Given the description of an element on the screen output the (x, y) to click on. 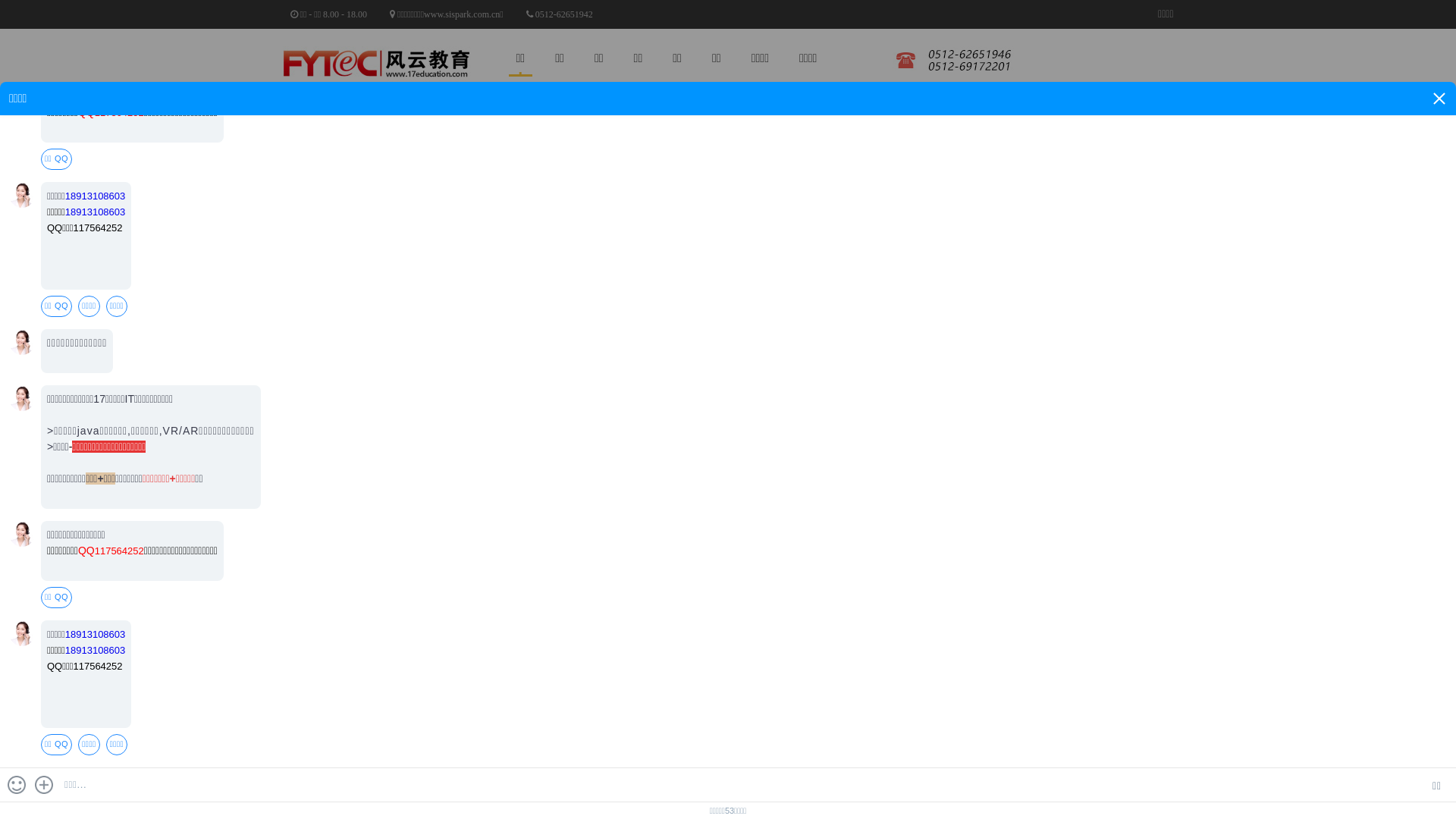
9 Element type: text (1449, 310)
